Given the description of an element on the screen output the (x, y) to click on. 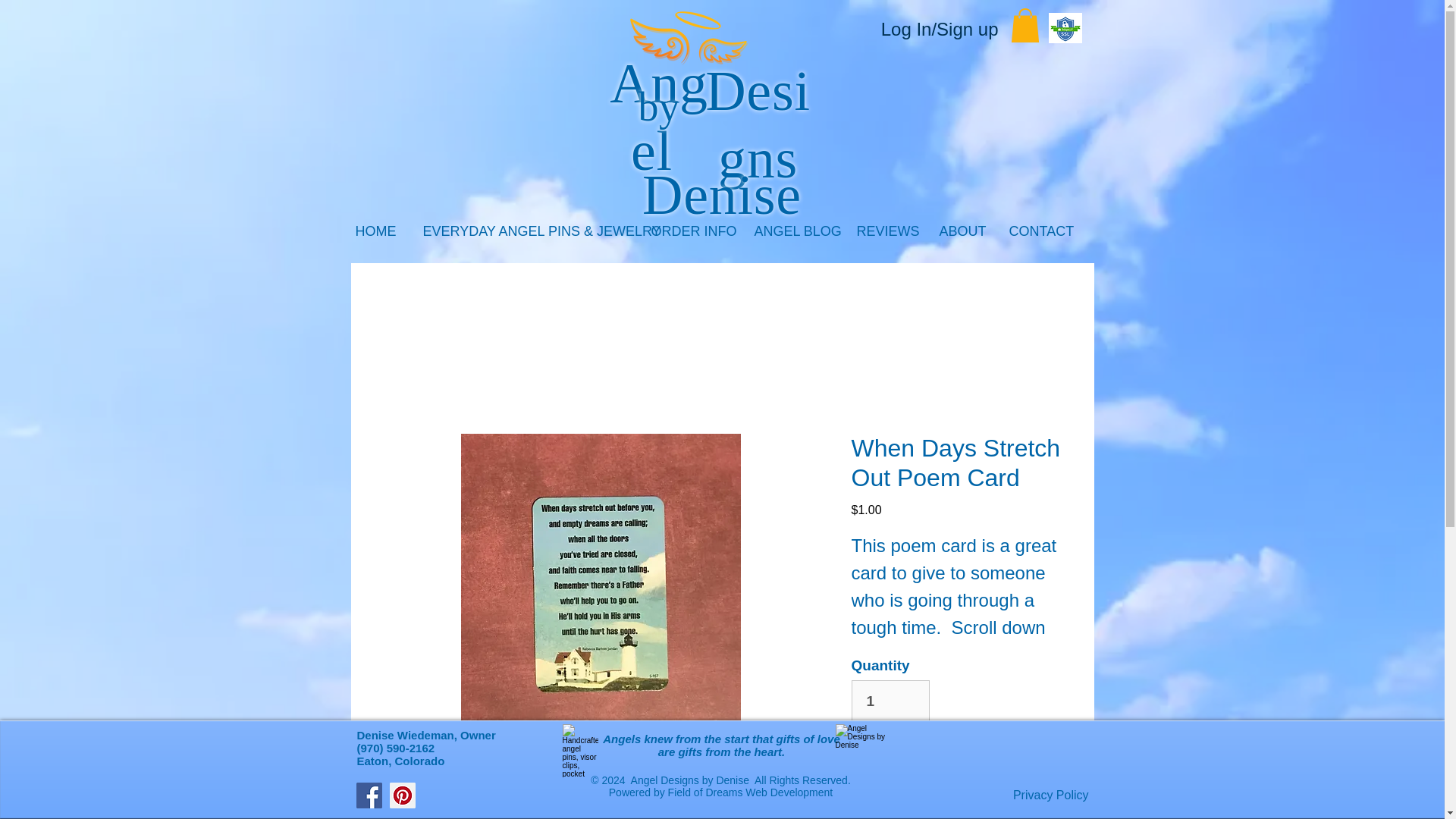
ABOUT (962, 235)
REVIEWS (885, 235)
ORDER INFO (691, 235)
Denise (722, 194)
ANGEL BLOG (793, 235)
HOME (377, 235)
1 (890, 700)
CONTACT (1040, 235)
Add to Cart (956, 761)
